Given the description of an element on the screen output the (x, y) to click on. 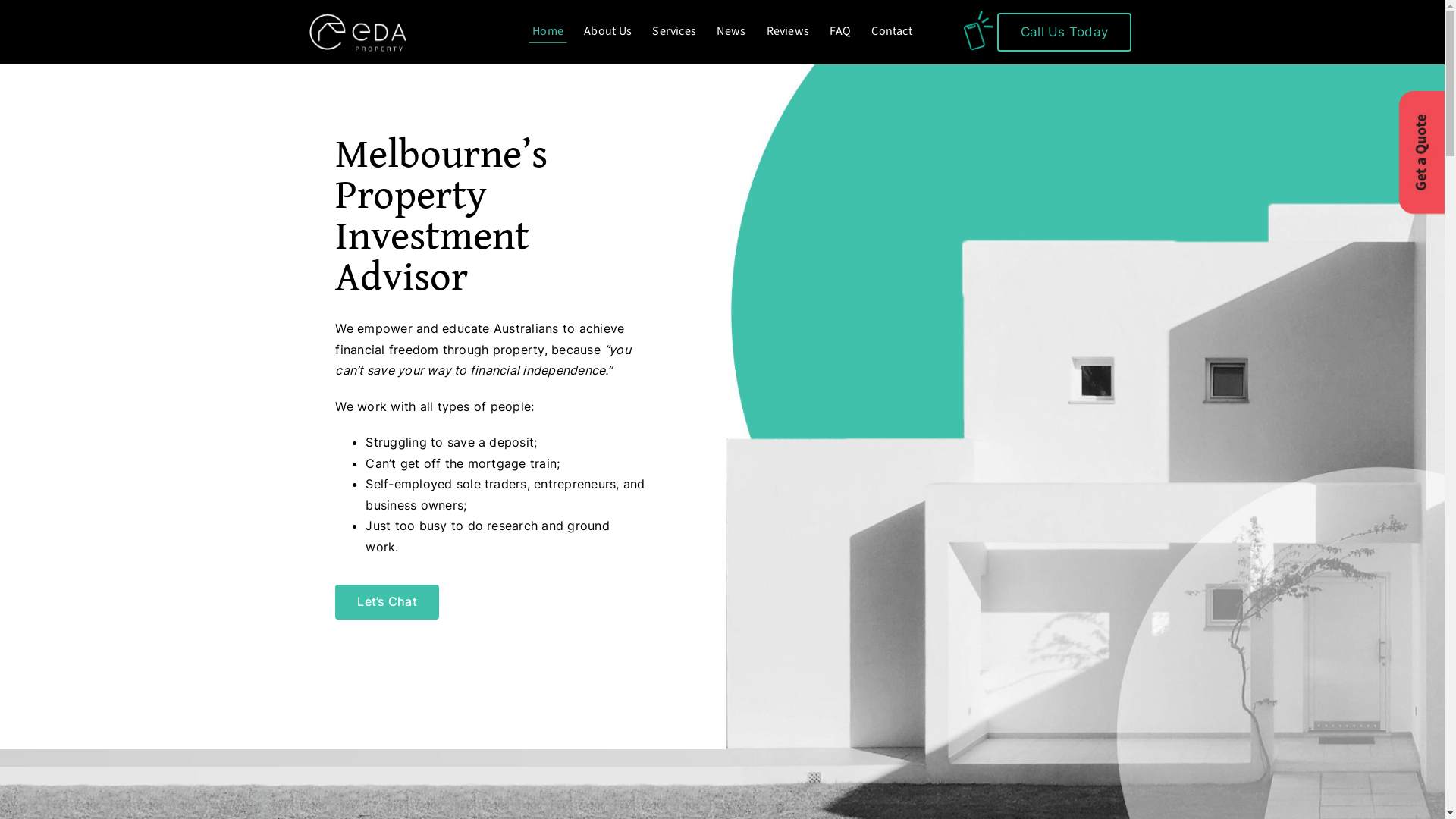
Contact Element type: text (891, 32)
Home Element type: text (547, 32)
About Us Element type: text (607, 32)
eda calltoday Element type: hover (978, 30)
Call Us Today Element type: text (1064, 31)
FAQ Element type: text (839, 32)
Services Element type: text (673, 32)
Reviews Element type: text (787, 32)
News Element type: text (730, 32)
